Given the description of an element on the screen output the (x, y) to click on. 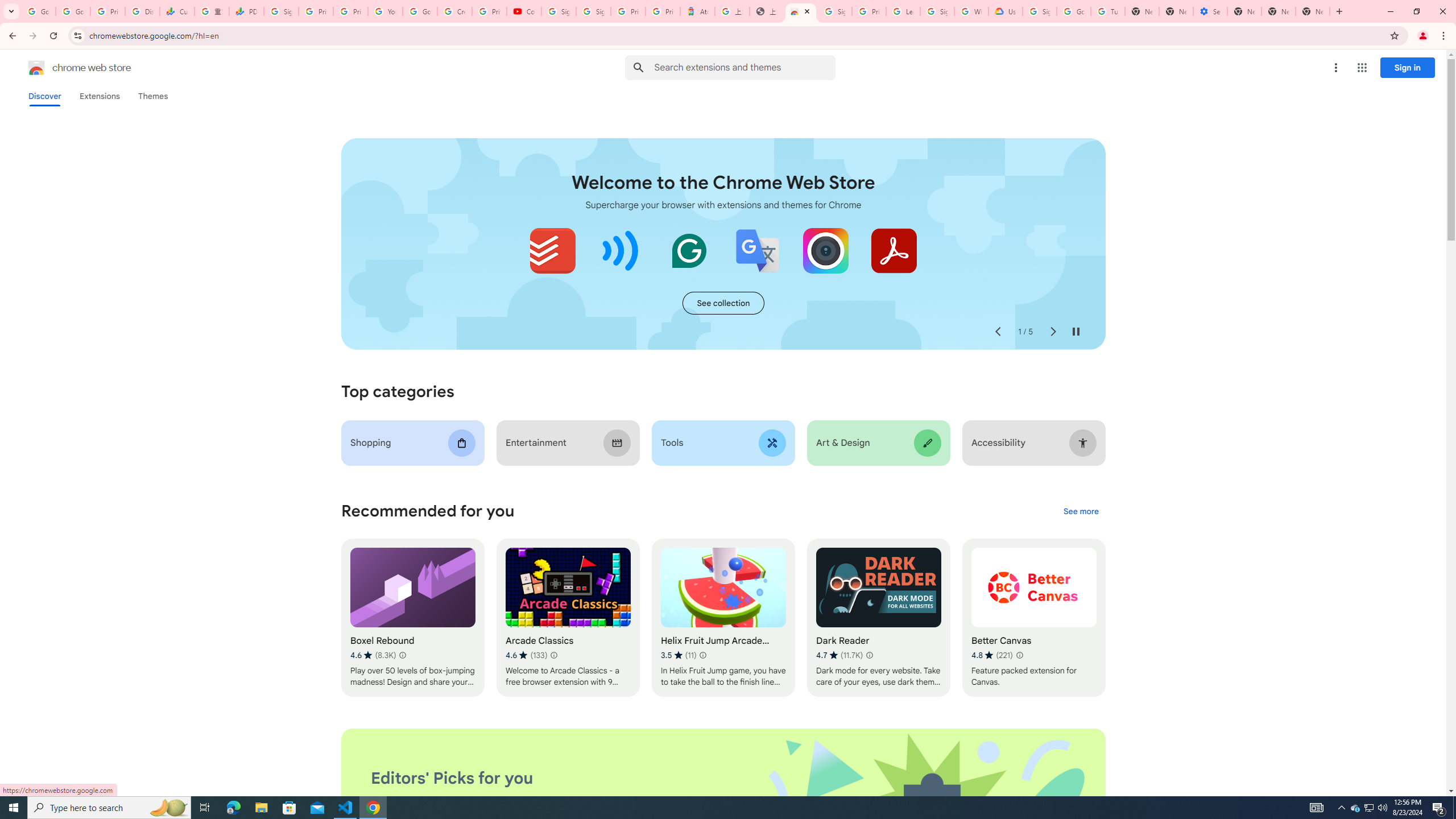
Tools (722, 443)
Entertainment (567, 443)
Todoist for Chrome (552, 250)
Turn cookies on or off - Computer - Google Account Help (1107, 11)
Grammarly: AI Writing and Grammar Checker App (689, 250)
Art & Design (878, 443)
Search input (744, 67)
Sign in - Google Accounts (557, 11)
Next slide (1052, 331)
Arcade Classics (567, 617)
Chrome Web Store (800, 11)
